Given the description of an element on the screen output the (x, y) to click on. 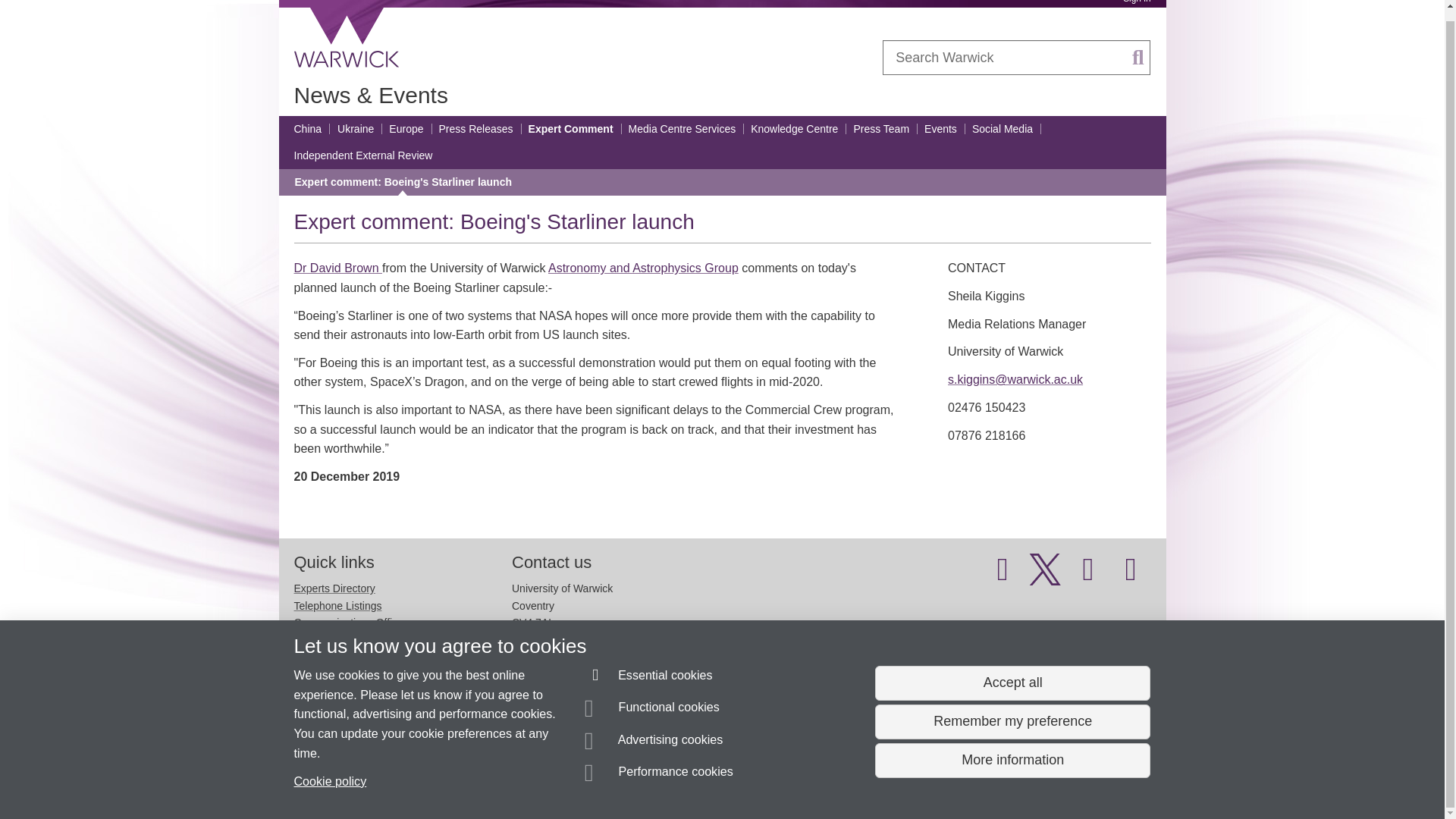
More information about SiteBuilder (365, 780)
Press Releases (475, 128)
Sign in (1136, 2)
Information about cookies (467, 780)
Copyright Statement (514, 780)
University of Warwick on Foursquare (1130, 576)
Knowledge Centre (794, 128)
University of Warwick on Facebook (1002, 576)
Privacy notice (673, 780)
